Given the description of an element on the screen output the (x, y) to click on. 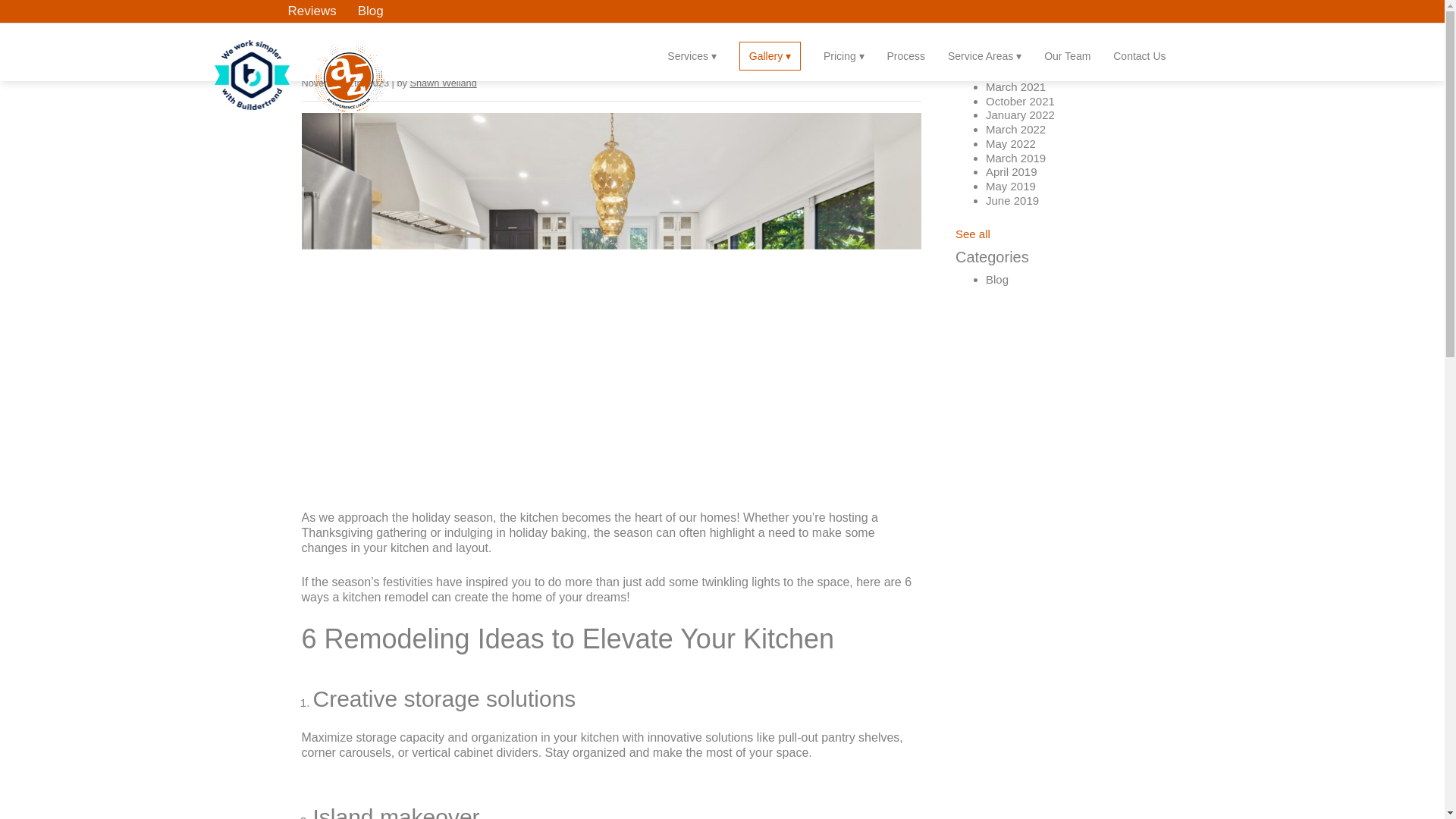
Services (691, 50)
Process (906, 50)
Contact Us (1139, 50)
Shawn Welland (442, 82)
Pricing (844, 50)
Gallery (769, 55)
Our Team (1066, 50)
Reviews (312, 11)
Blog (371, 11)
Service Areas (984, 50)
